Given the description of an element on the screen output the (x, y) to click on. 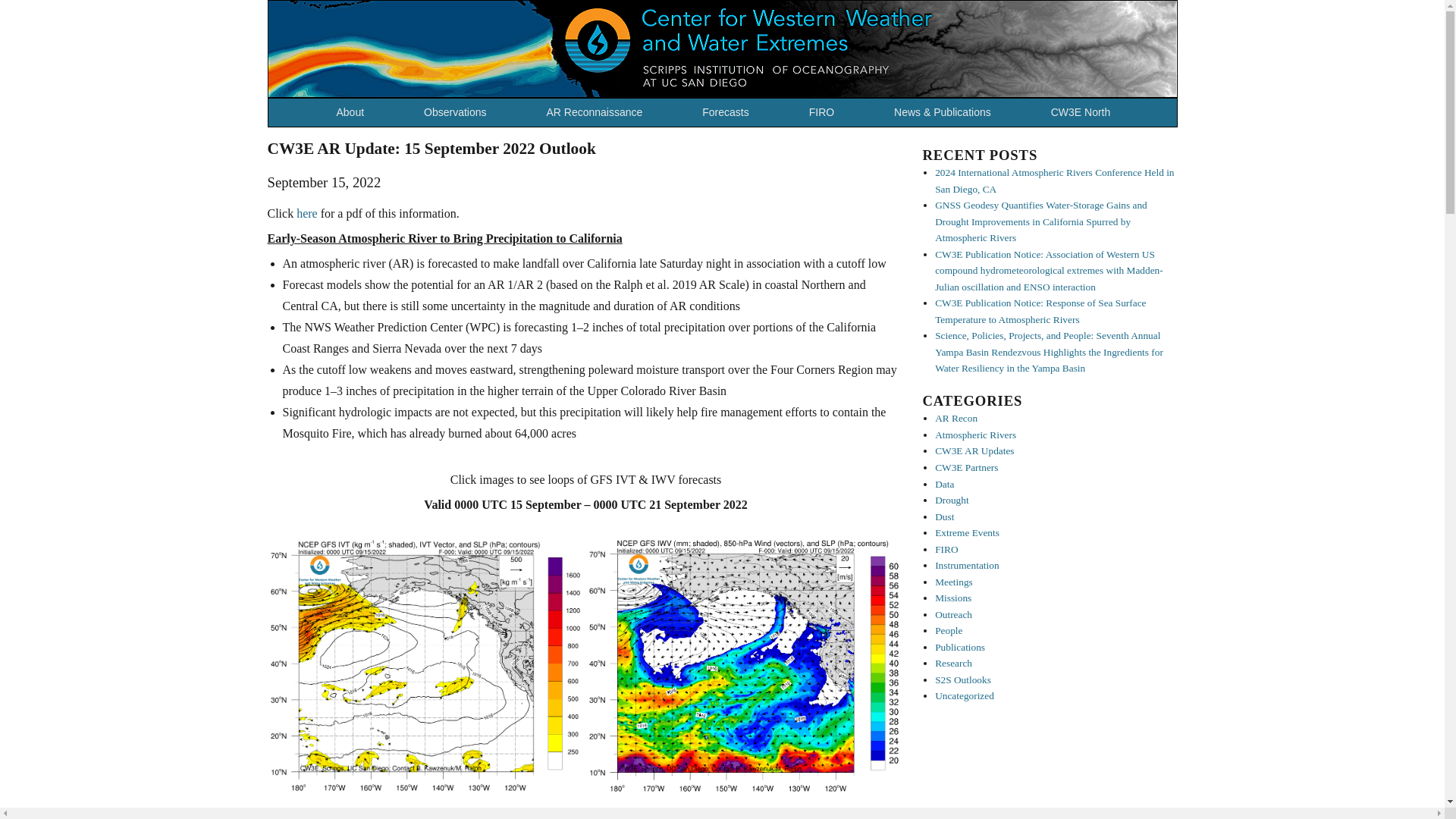
AR Reconnaissance (599, 112)
Observations (461, 112)
About (355, 112)
Forecasts (731, 112)
